Given the description of an element on the screen output the (x, y) to click on. 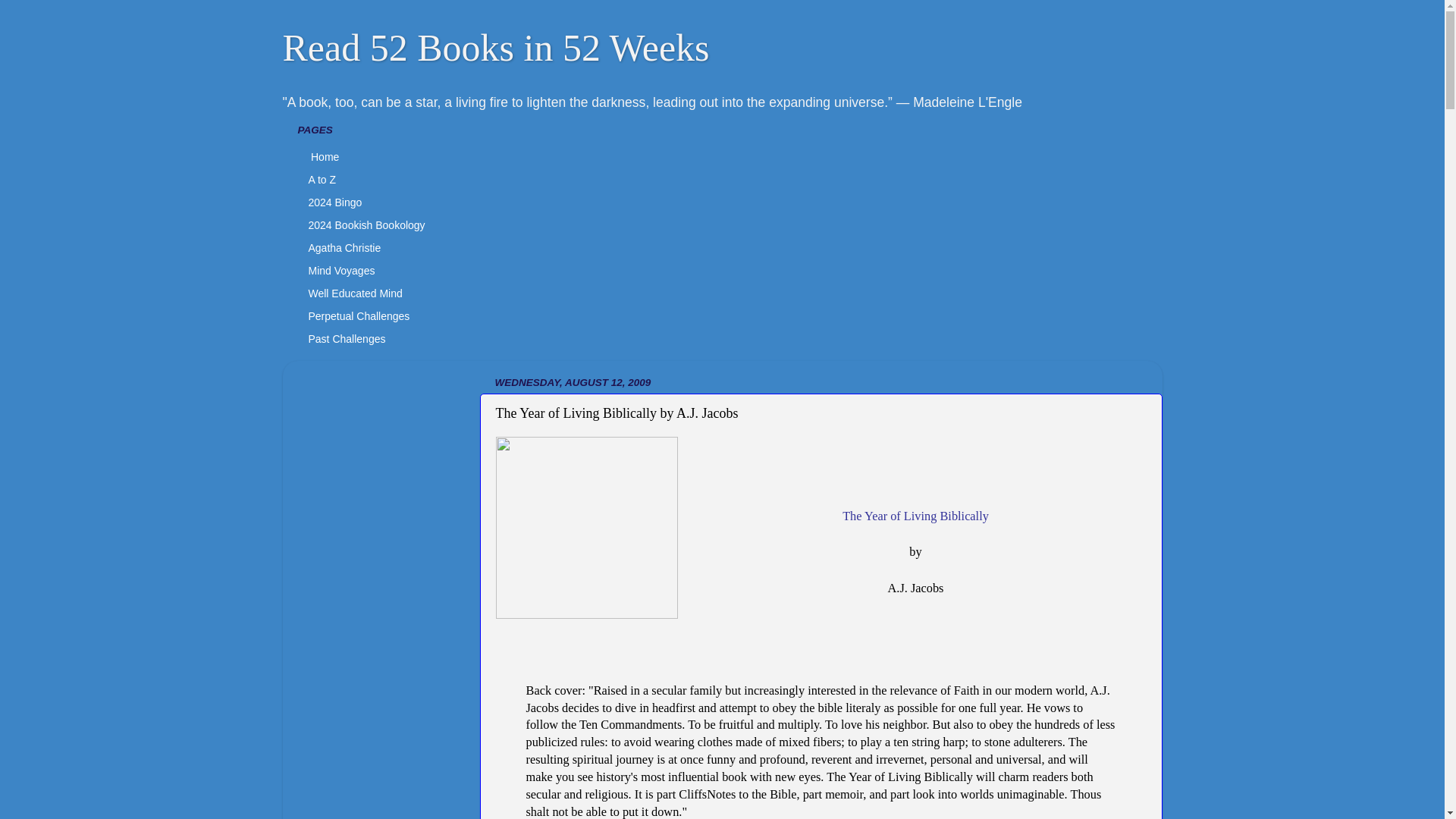
The Year of Living Biblically (915, 515)
A to Z (322, 179)
2024 Bookish Bookology (366, 224)
Perpetual Challenges (358, 315)
Read 52 Books in 52 Weeks (495, 46)
Mind Voyages (341, 270)
Well Educated Mind (355, 292)
Home (323, 156)
Agatha Christie (344, 247)
2024 Bingo (334, 201)
Past Challenges (346, 338)
